Given the description of an element on the screen output the (x, y) to click on. 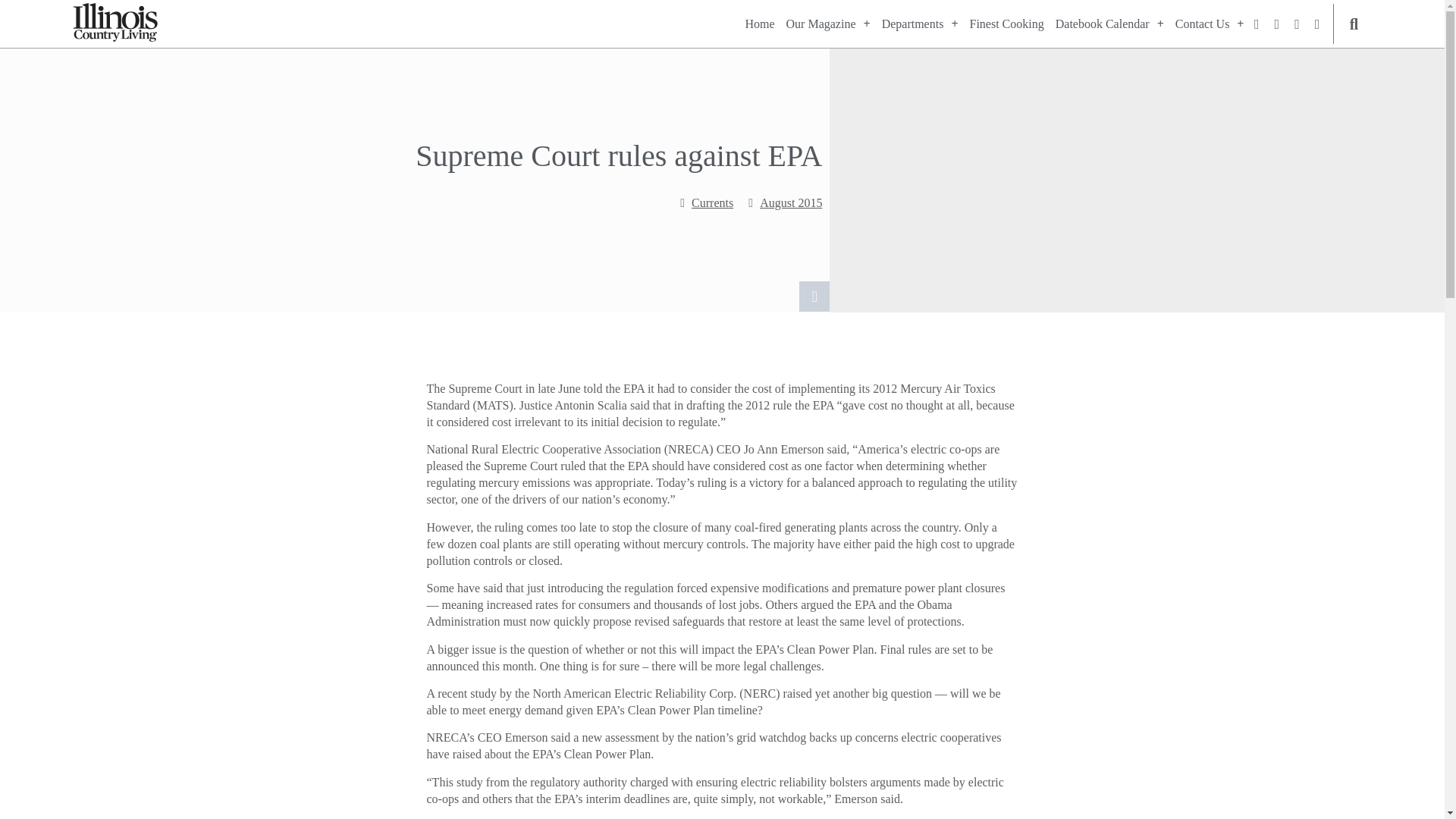
ICL-logo-blk (114, 22)
Departments (919, 24)
Home (758, 24)
Datebook Calendar (1110, 24)
Contact Us (1209, 24)
Our Magazine (828, 24)
Finest Cooking (1005, 24)
